Given the description of an element on the screen output the (x, y) to click on. 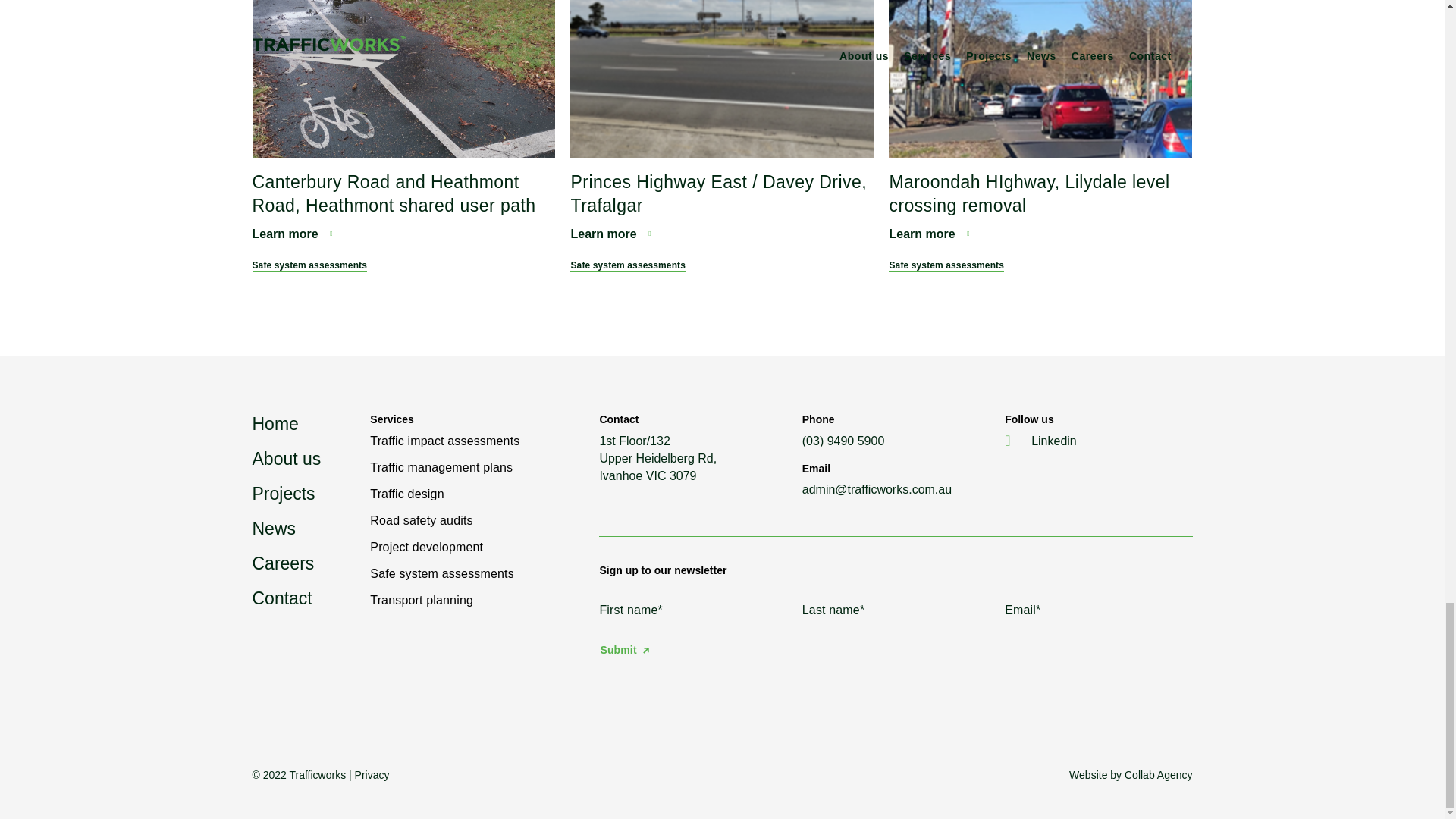
Safe system assessments (627, 264)
Learn more (928, 233)
Submit (623, 650)
Safe system assessments (946, 264)
Maroondah HIghway, Lilydale level crossing removal (1028, 193)
Learn more (291, 233)
Home (274, 424)
Safe system assessments (308, 264)
Learn more (610, 233)
